Given the description of an element on the screen output the (x, y) to click on. 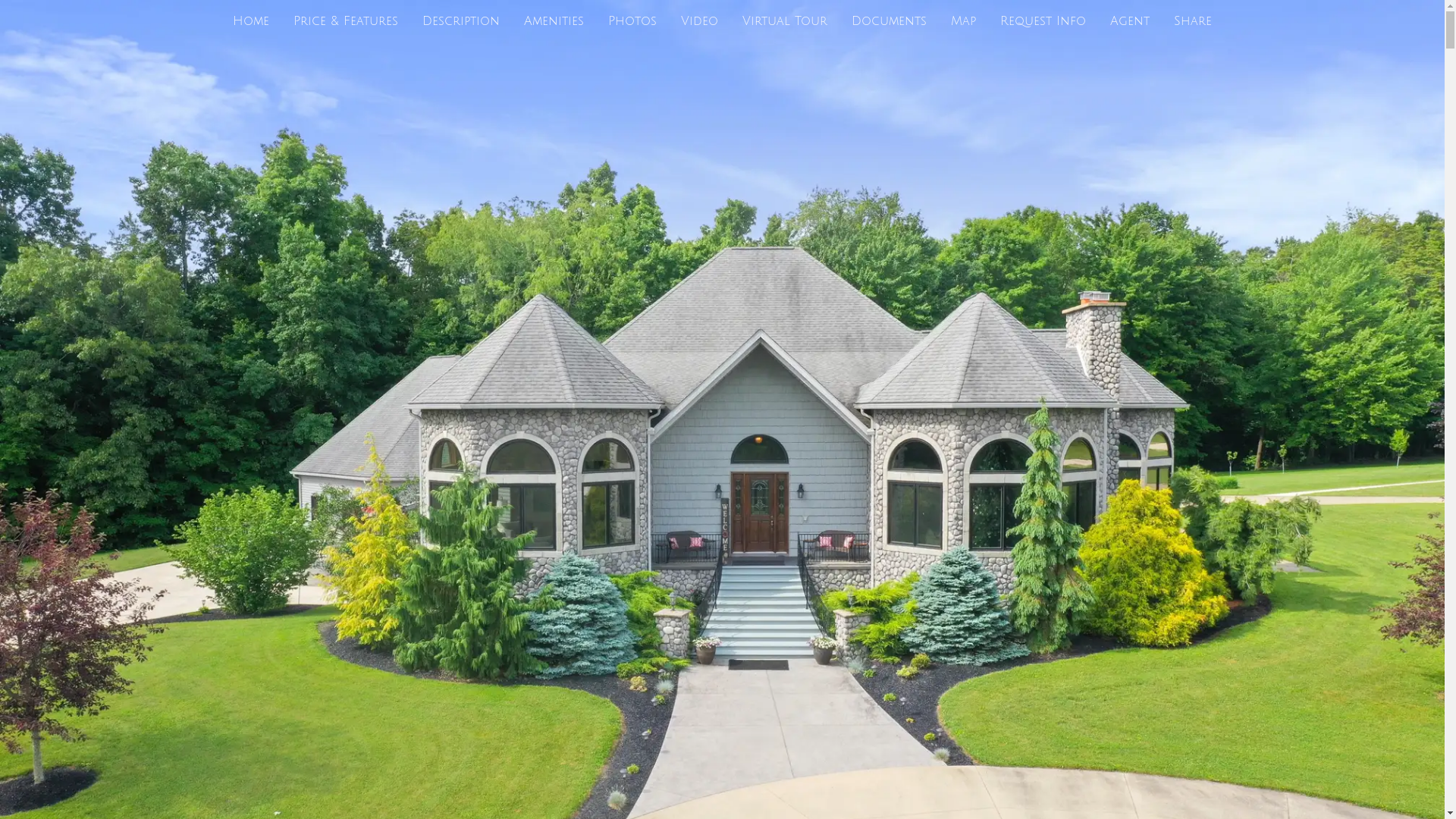
Description Element type: text (460, 21)
Price & Features Element type: text (345, 21)
Virtual Tour Element type: text (784, 21)
Agent Element type: text (1129, 21)
Amenities Element type: text (553, 21)
Photos Element type: text (632, 21)
Home Element type: text (250, 21)
Video Element type: text (699, 21)
Request Info Element type: text (1043, 21)
Share Element type: text (1192, 21)
Documents Element type: text (888, 21)
Map Element type: text (963, 21)
